Given the description of an element on the screen output the (x, y) to click on. 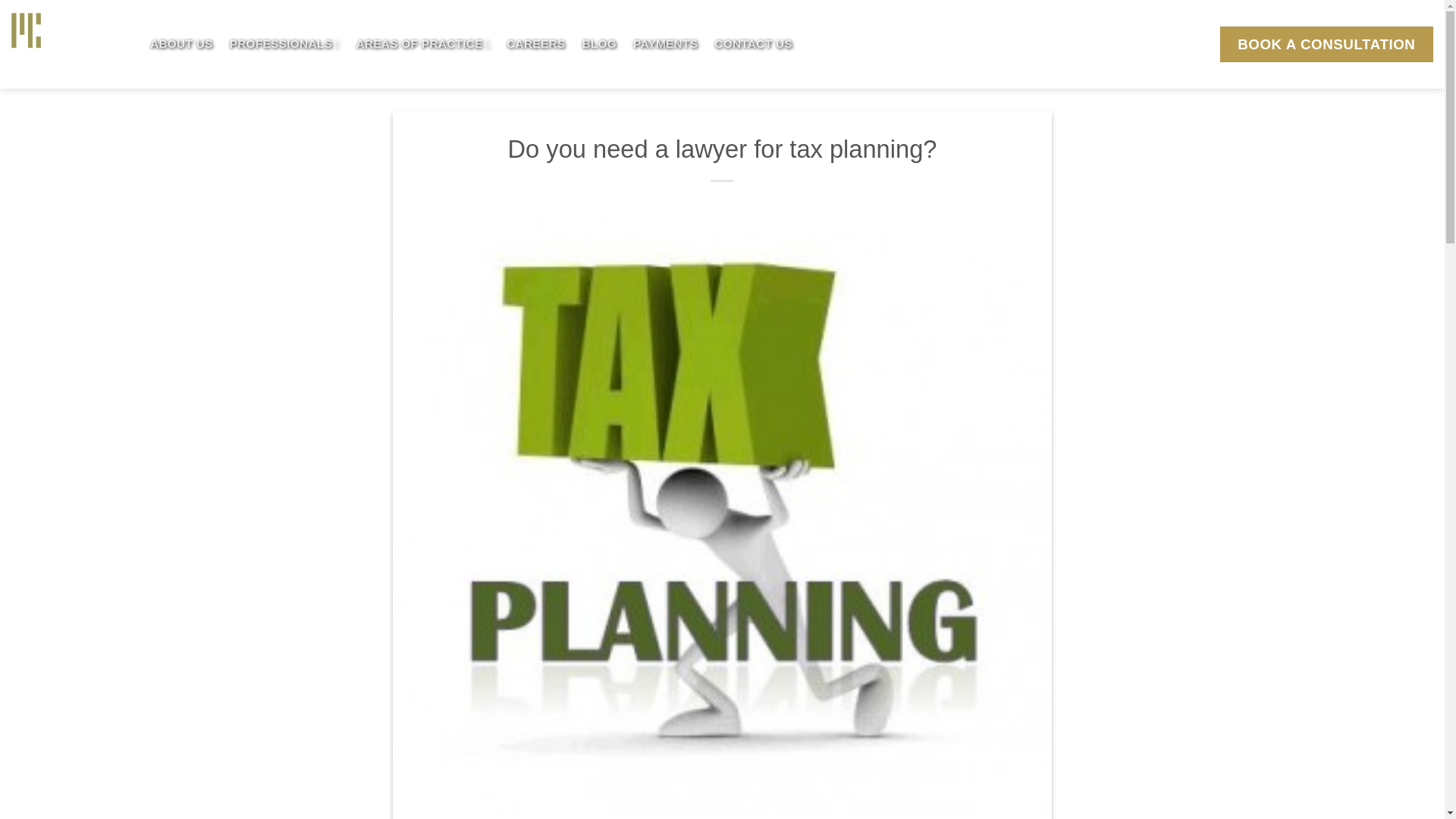
AREAS OF PRACTICE (422, 44)
PROFESSIONALS (284, 44)
Edmonton Law Firms - Lawyer Alberta (69, 44)
ABOUT US (180, 44)
